Given the description of an element on the screen output the (x, y) to click on. 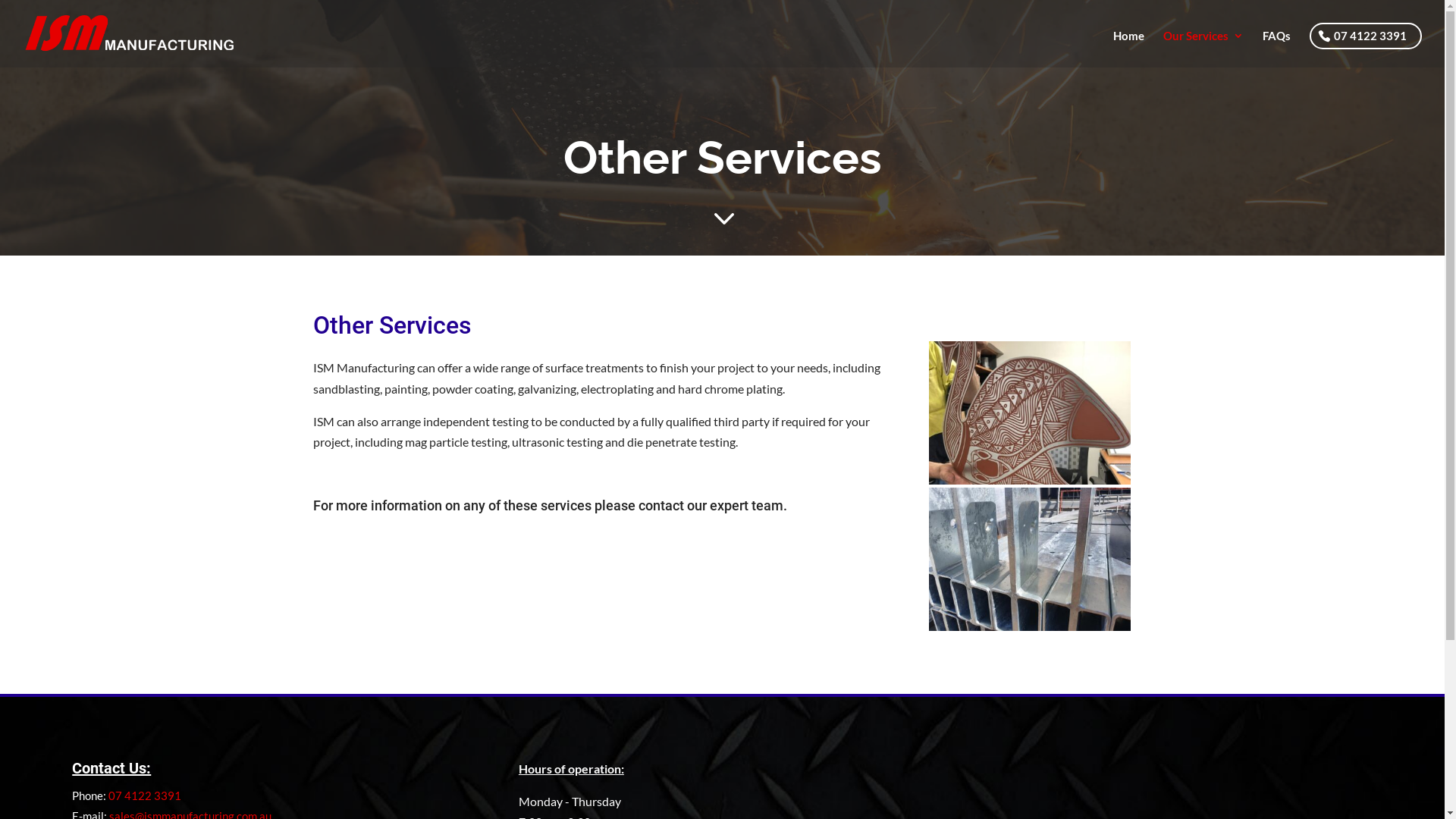
07 4122 3391 Element type: text (144, 795)
Home Element type: text (1128, 46)
Galvanized Steel Work Element type: hover (1028, 625)
3 Element type: text (721, 217)
Emu Acid Etched and Paint Filled Element type: hover (1028, 479)
Our Services Element type: text (1203, 46)
07 4122 3391 Element type: text (1365, 35)
FAQs Element type: text (1276, 46)
